Given the description of an element on the screen output the (x, y) to click on. 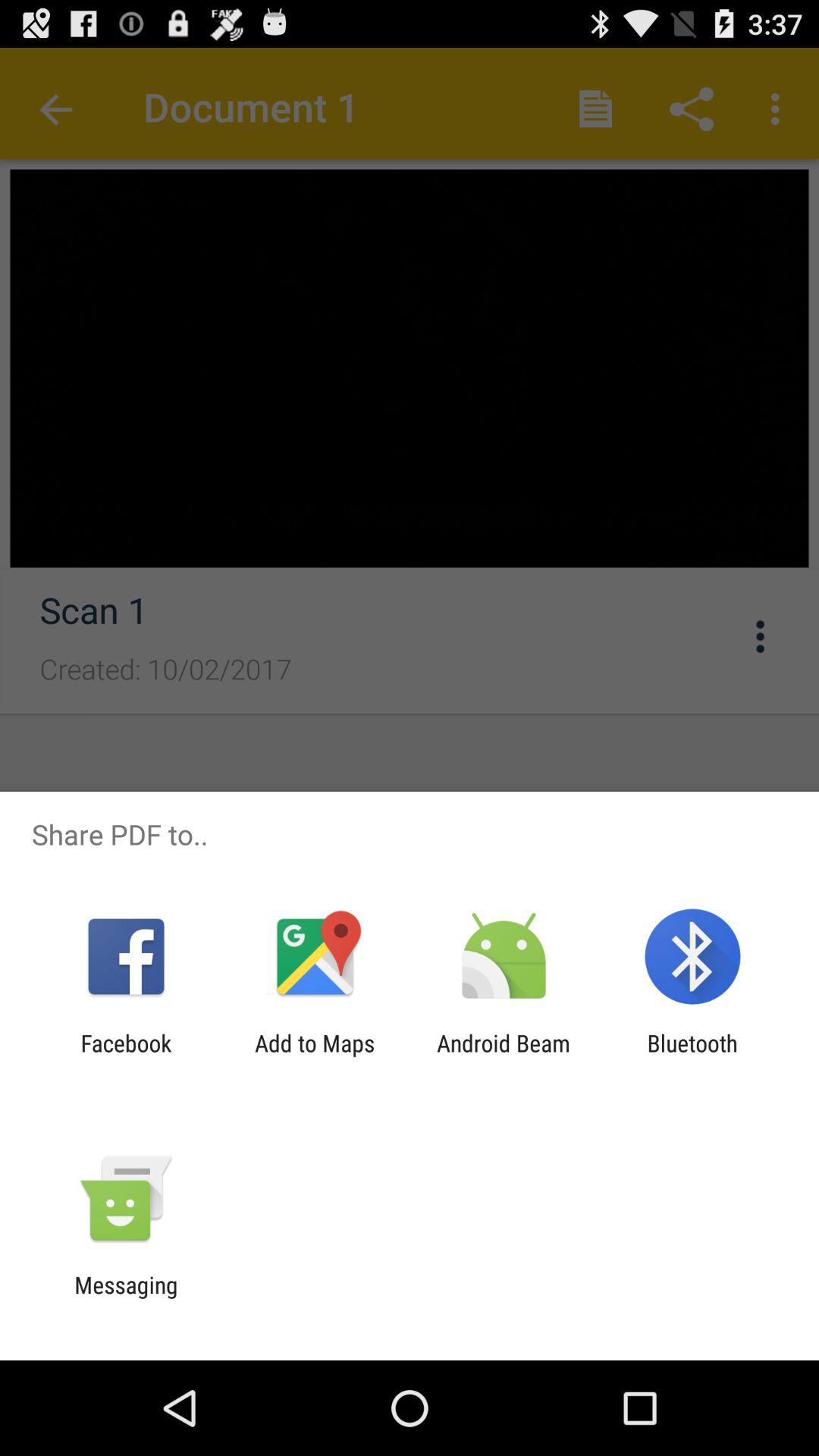
swipe to the android beam icon (503, 1056)
